Given the description of an element on the screen output the (x, y) to click on. 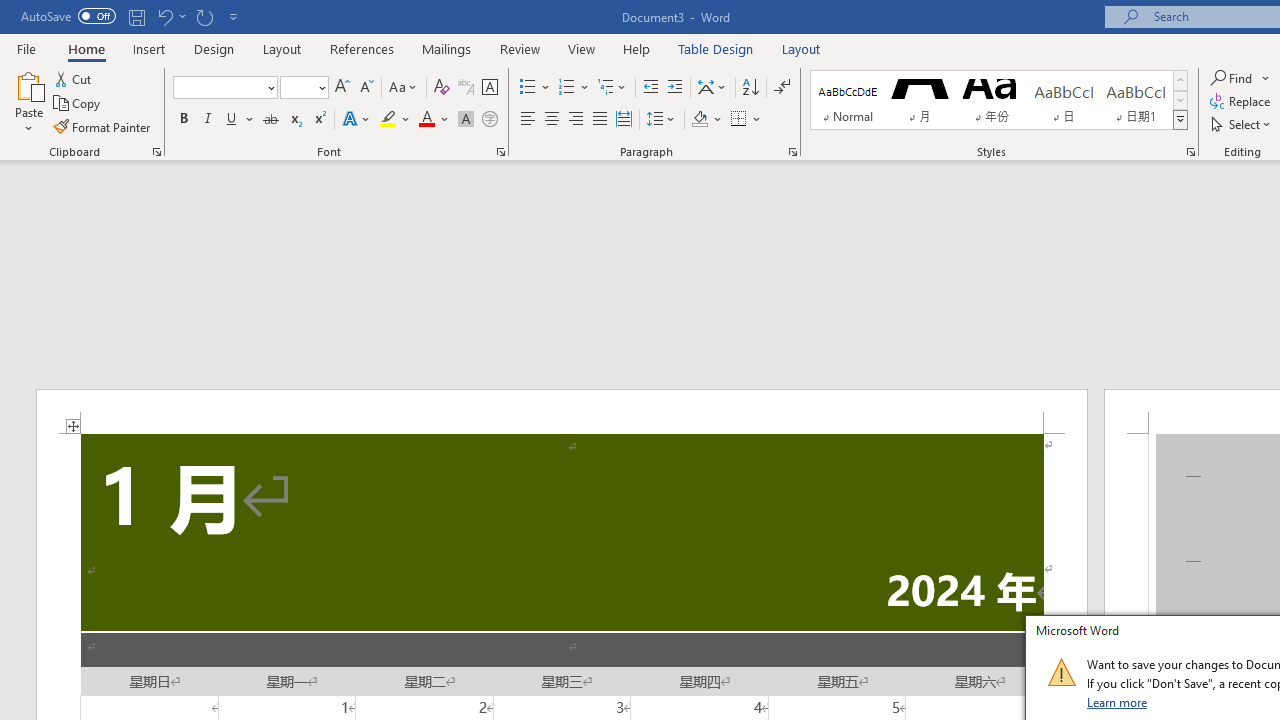
Bold (183, 119)
Change Case (404, 87)
File Tab (26, 48)
Shading (706, 119)
Layout (801, 48)
Italic (207, 119)
Format Painter (103, 126)
Phonetic Guide... (465, 87)
Show/Hide Editing Marks (781, 87)
Insert (149, 48)
Font Size (297, 87)
Font Color RGB(255, 0, 0) (426, 119)
Shrink Font (365, 87)
